Given the description of an element on the screen output the (x, y) to click on. 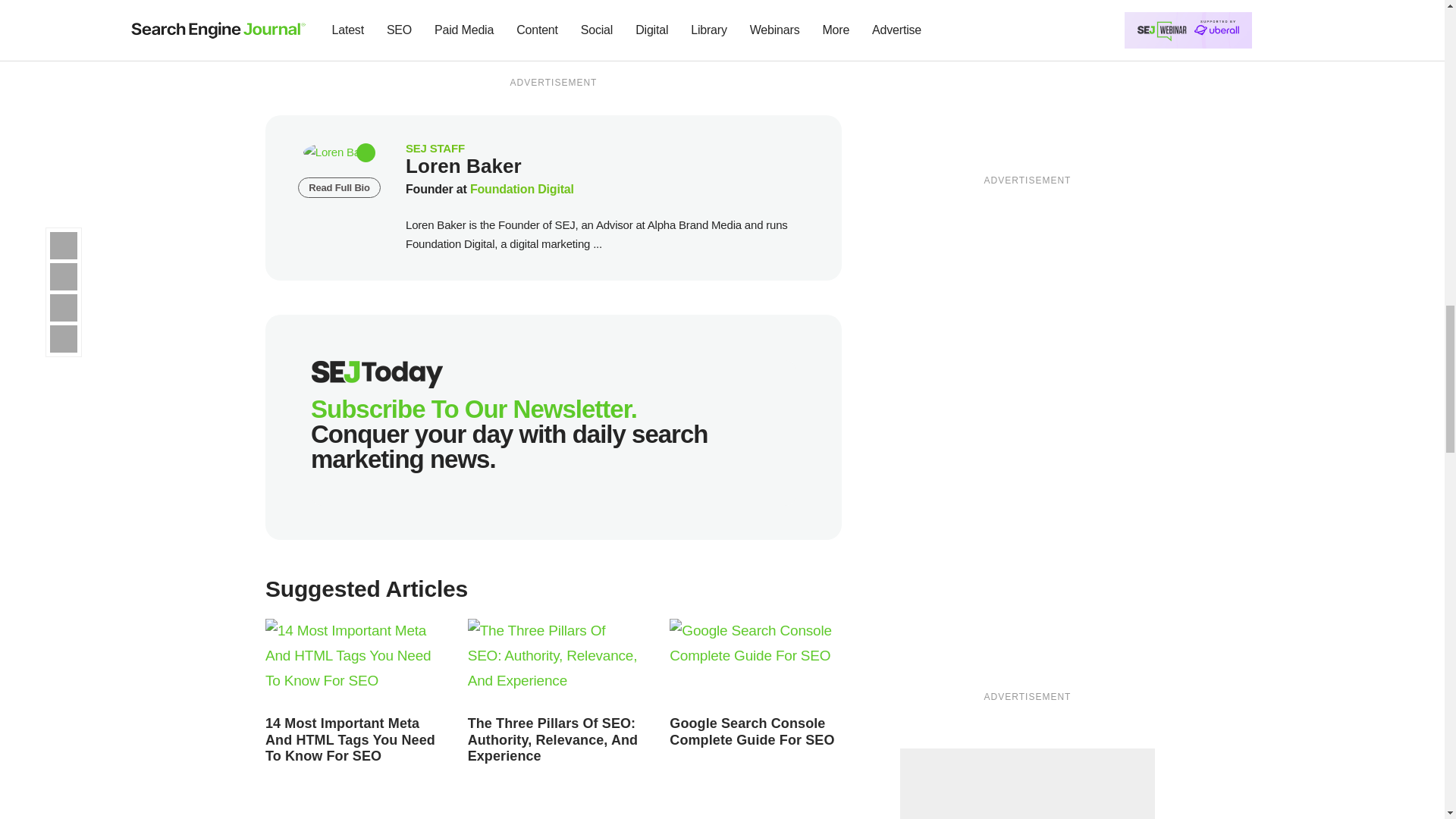
Read the Article (349, 739)
Read the Article (755, 663)
Read the Article (751, 731)
Read the Article (351, 663)
Read the Article (553, 663)
Read the Article (553, 739)
